Given the description of an element on the screen output the (x, y) to click on. 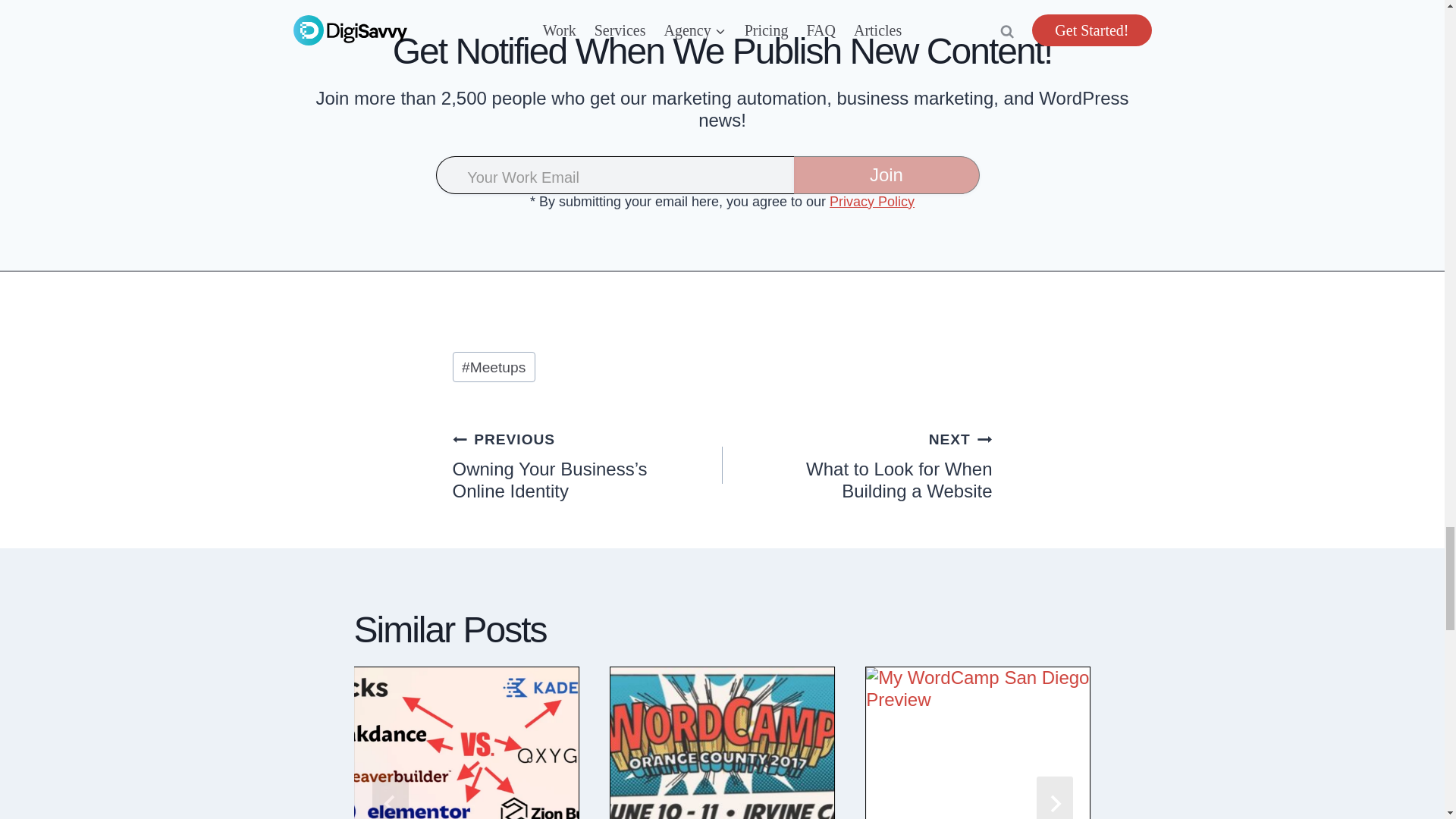
Privacy Policy (871, 201)
Meetups (492, 367)
Join (886, 175)
